Given the description of an element on the screen output the (x, y) to click on. 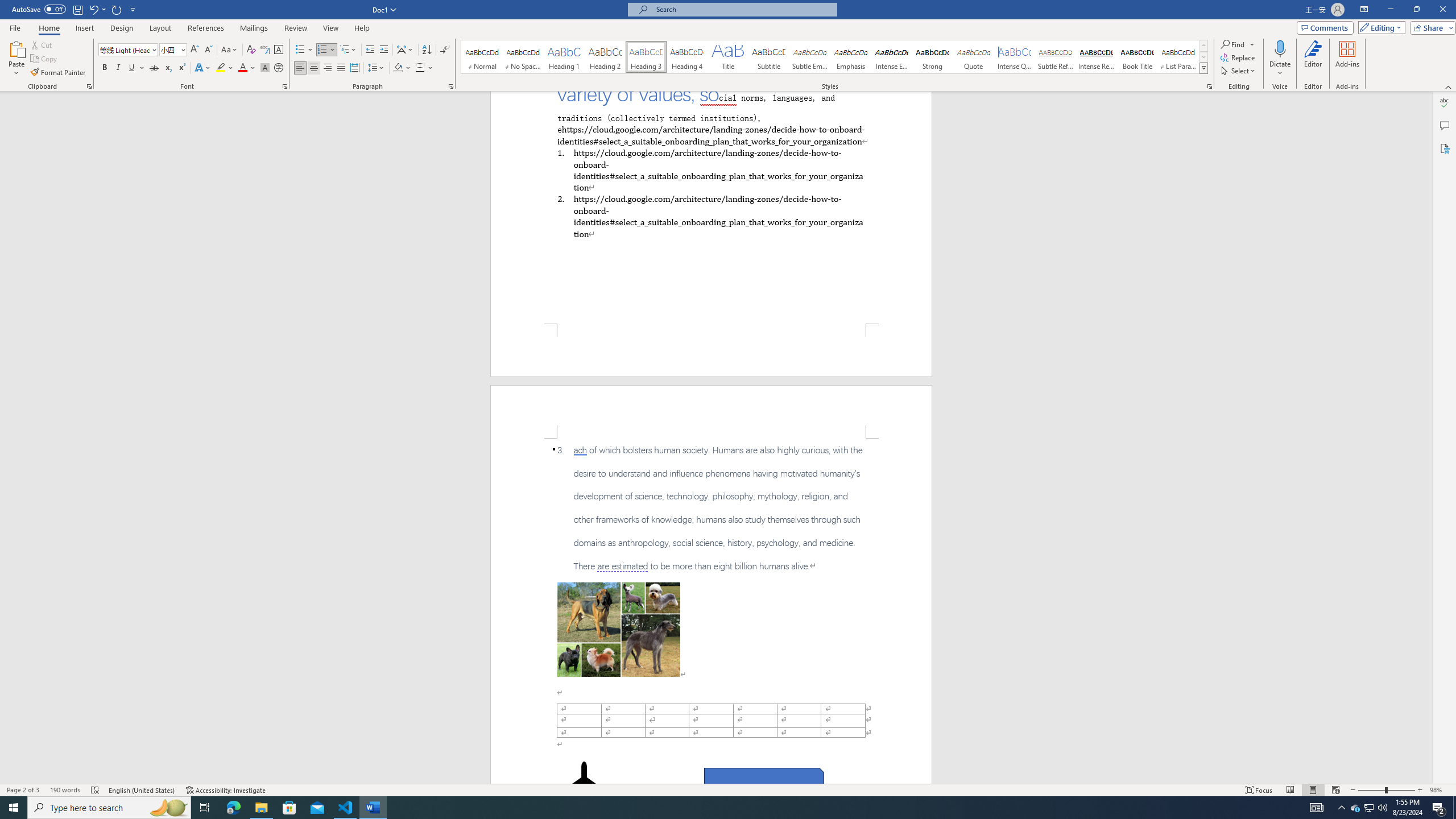
Subtle Emphasis (809, 56)
Page 2 content (710, 610)
Rectangle: Diagonal Corners Snipped 2 (764, 781)
Font Color Blue-Gray, Text 2 (241, 67)
